Given the description of an element on the screen output the (x, y) to click on. 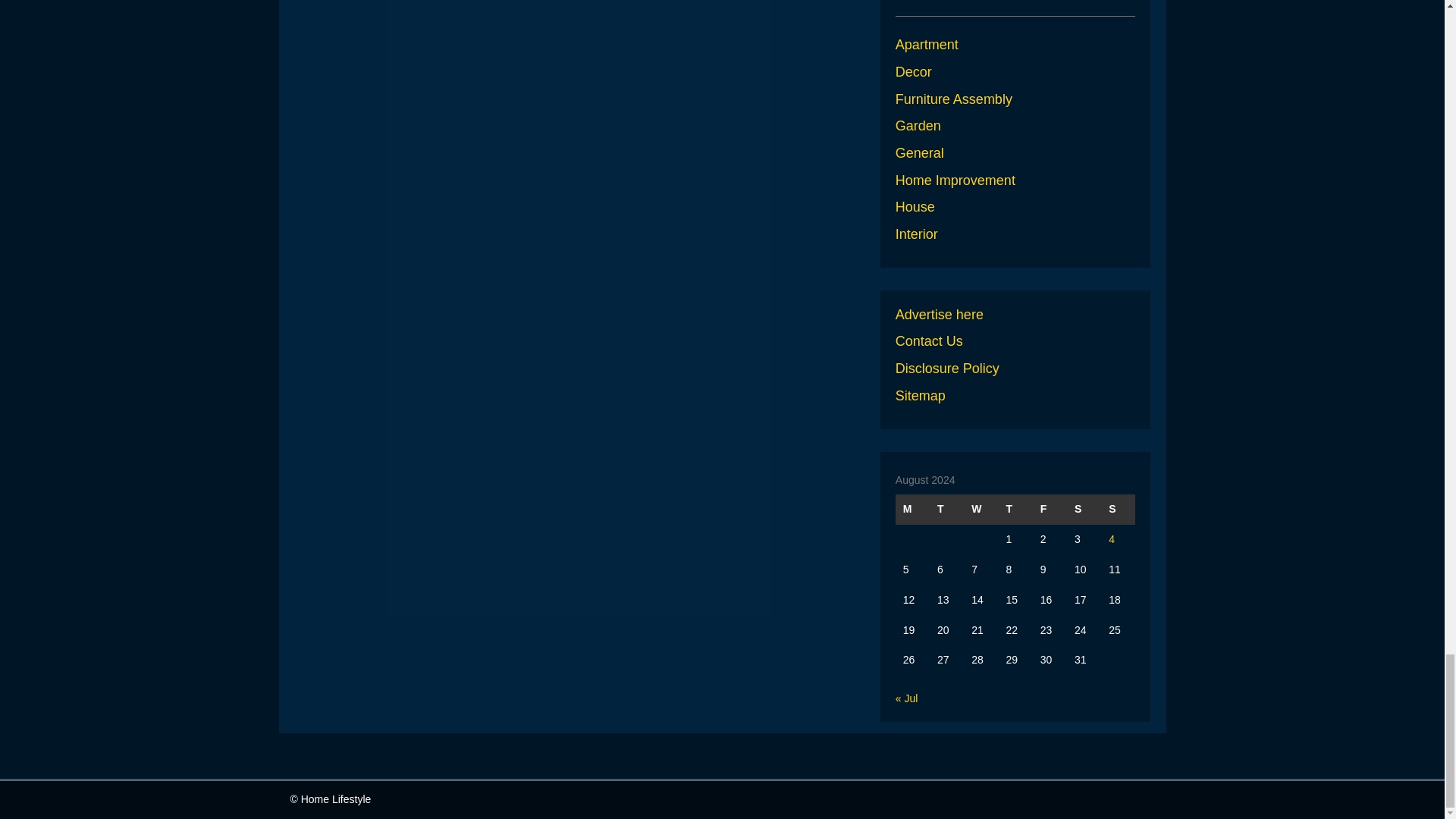
Monday (912, 509)
Sunday (1117, 509)
Friday (1049, 509)
Tuesday (946, 509)
Saturday (1083, 509)
Thursday (1015, 509)
Wednesday (980, 509)
